Given the description of an element on the screen output the (x, y) to click on. 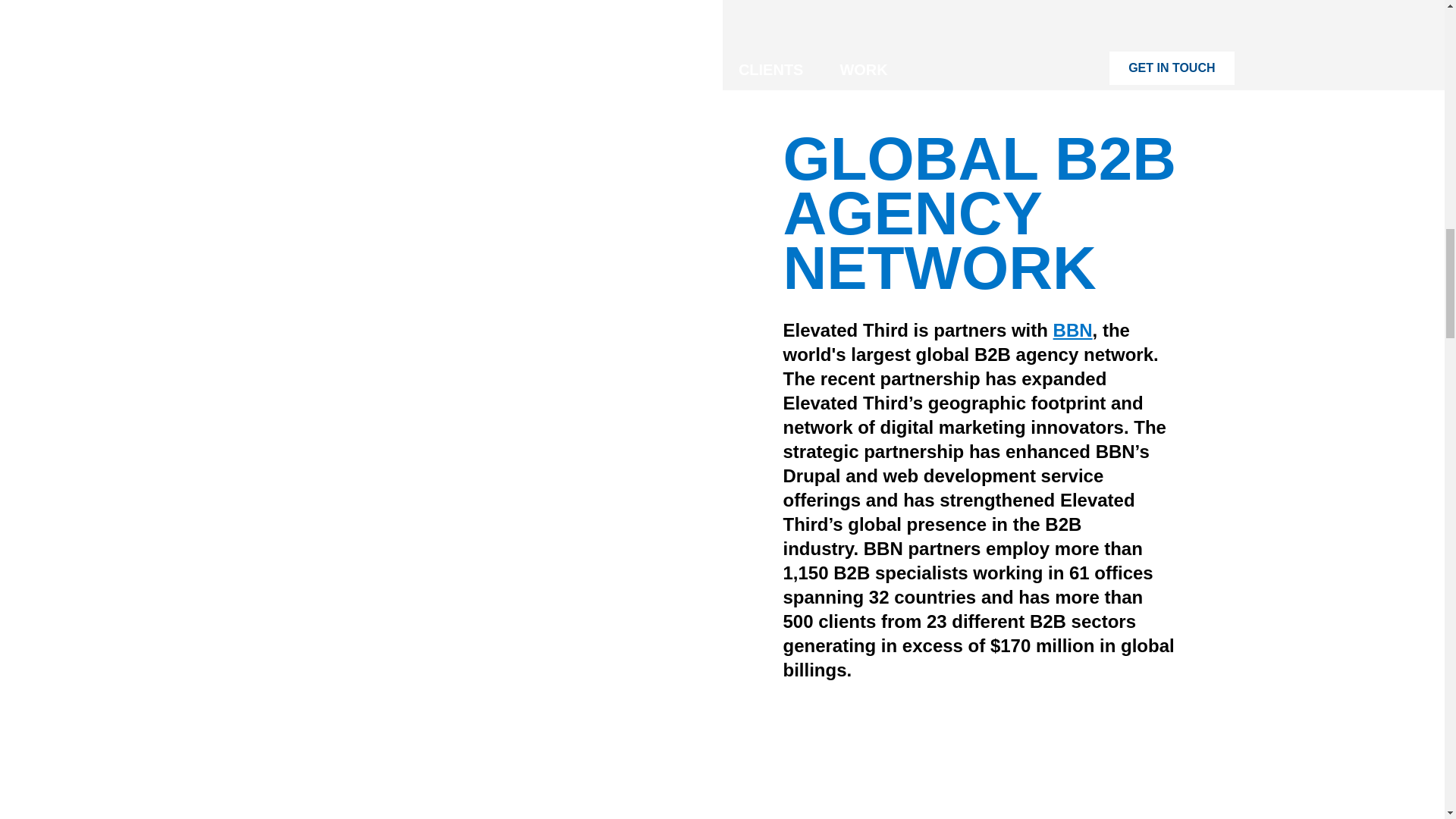
BBN (1072, 330)
